Given the description of an element on the screen output the (x, y) to click on. 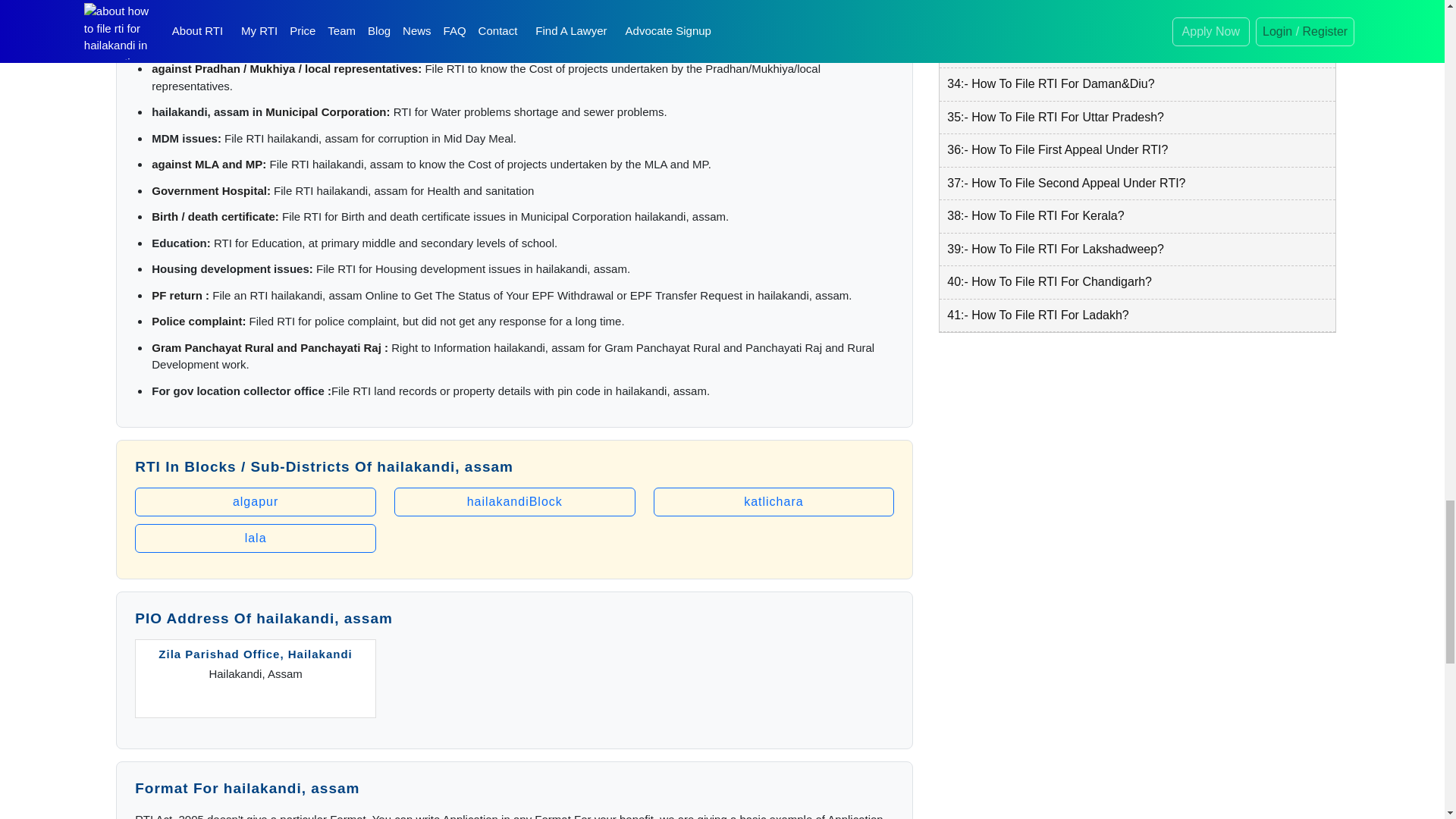
Police complaint: (198, 320)
hailakandiBlock (514, 501)
Municipal Corporation: (327, 111)
the Cost of projects undertaken by the MLA and MP: (292, 15)
MNREGA works details: (216, 42)
PF return : (180, 295)
against MLA and MP: (208, 164)
Gram Panchayat Rural and Panchayati Raj : (269, 347)
algapur (255, 501)
Government Hospital: (210, 190)
